Given the description of an element on the screen output the (x, y) to click on. 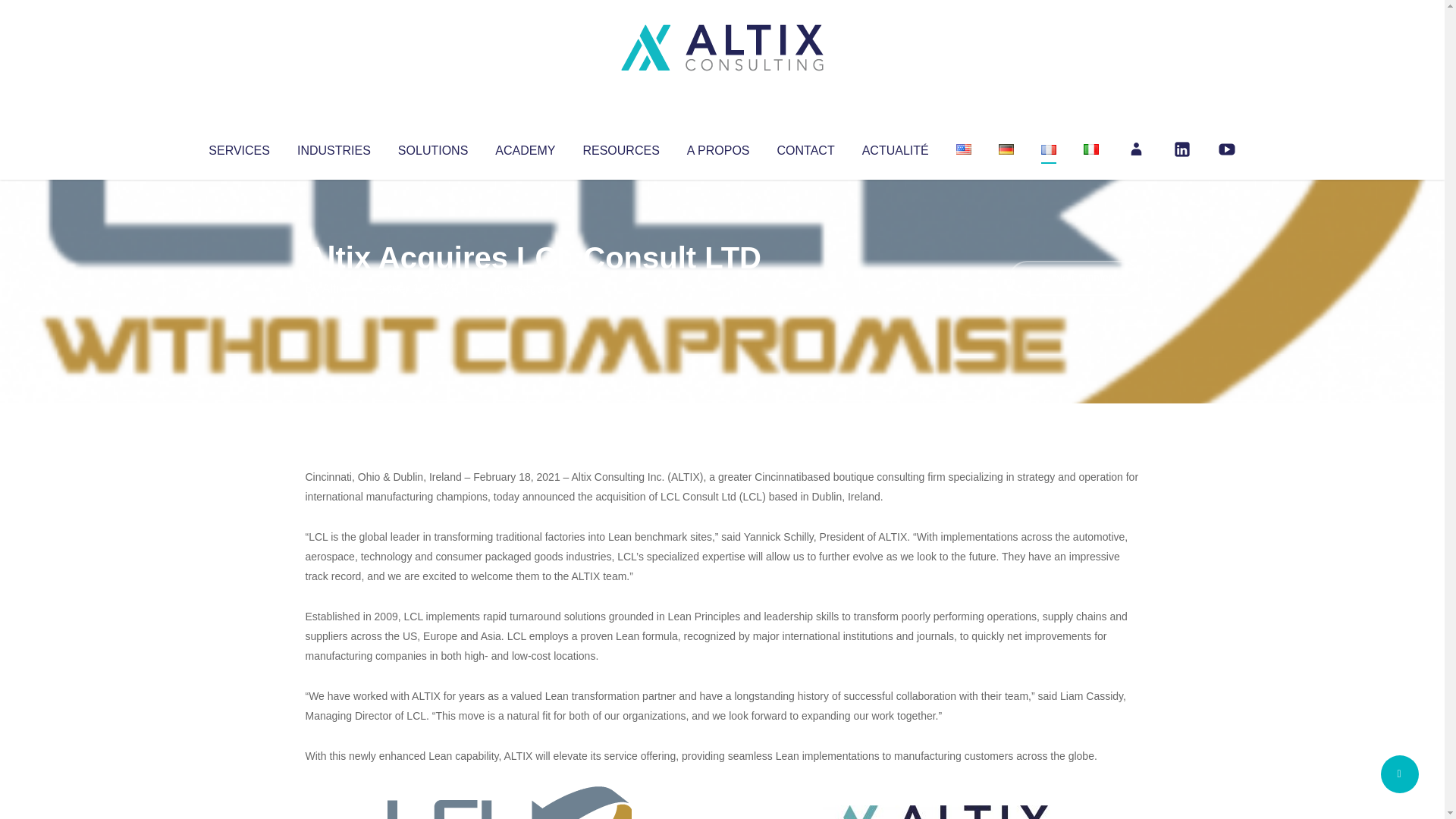
SOLUTIONS (432, 146)
INDUSTRIES (334, 146)
Articles par Altix (333, 287)
Uncategorized (530, 287)
SERVICES (238, 146)
Altix (333, 287)
ACADEMY (524, 146)
A PROPOS (718, 146)
RESOURCES (620, 146)
No Comments (1073, 278)
